Given the description of an element on the screen output the (x, y) to click on. 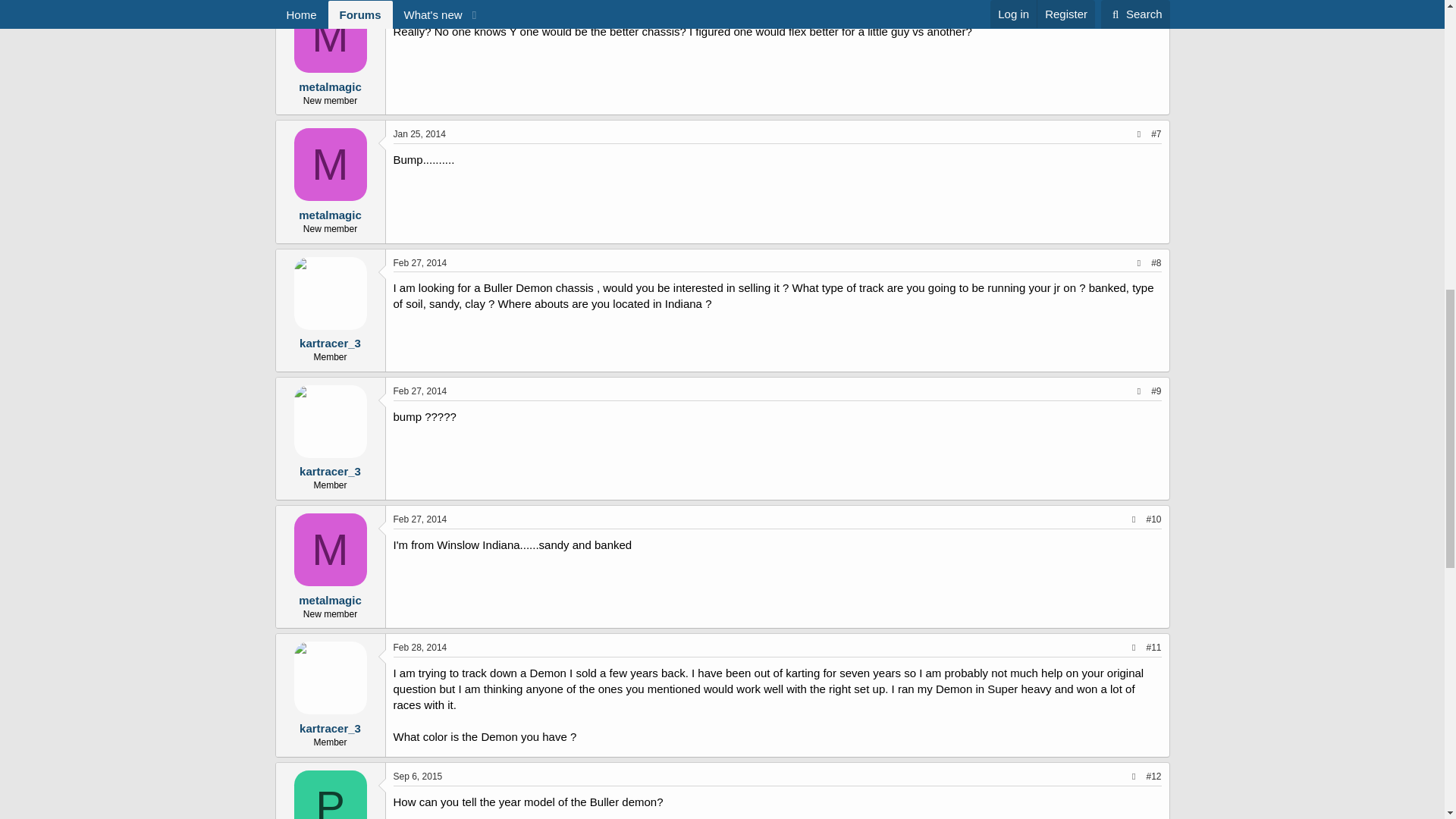
Jan 25, 2014 at 12:32 PM (419, 5)
Jan 25, 2014 at 10:55 PM (419, 133)
Feb 27, 2014 at 2:33 AM (419, 262)
Feb 27, 2014 at 7:14 PM (419, 390)
Sep 6, 2015 at 12:00 AM (417, 776)
Feb 27, 2014 at 8:06 PM (419, 519)
Feb 28, 2014 at 12:41 AM (419, 647)
